Given the description of an element on the screen output the (x, y) to click on. 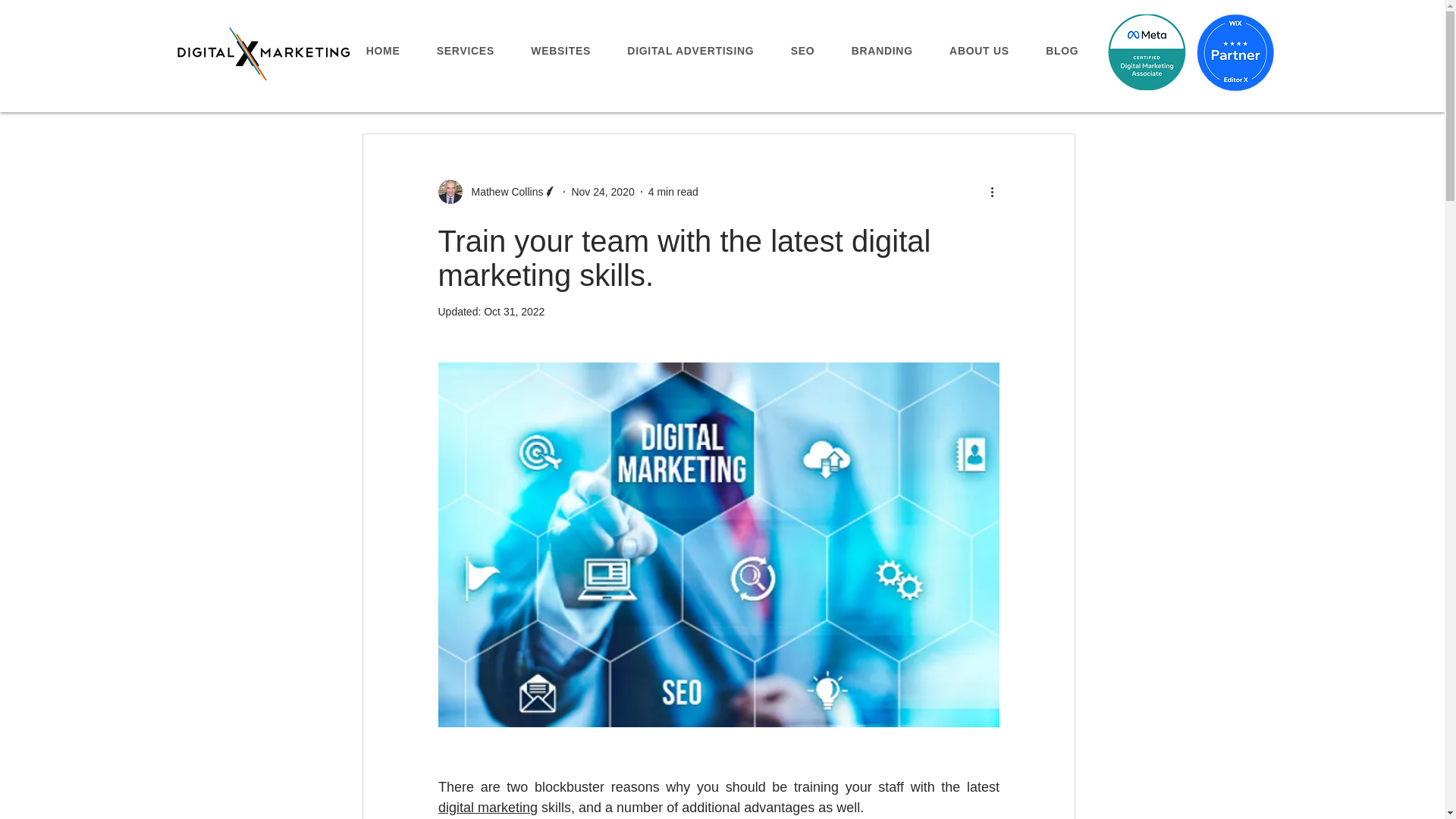
WEBSITES (560, 50)
HOME (382, 50)
ABOUT US (979, 50)
BLOG (1062, 50)
digital marketing (487, 807)
All Posts (380, 88)
SEO (802, 50)
Nov 24, 2020 (601, 191)
Mathew Collins (503, 191)
SERVICES (465, 50)
